Given the description of an element on the screen output the (x, y) to click on. 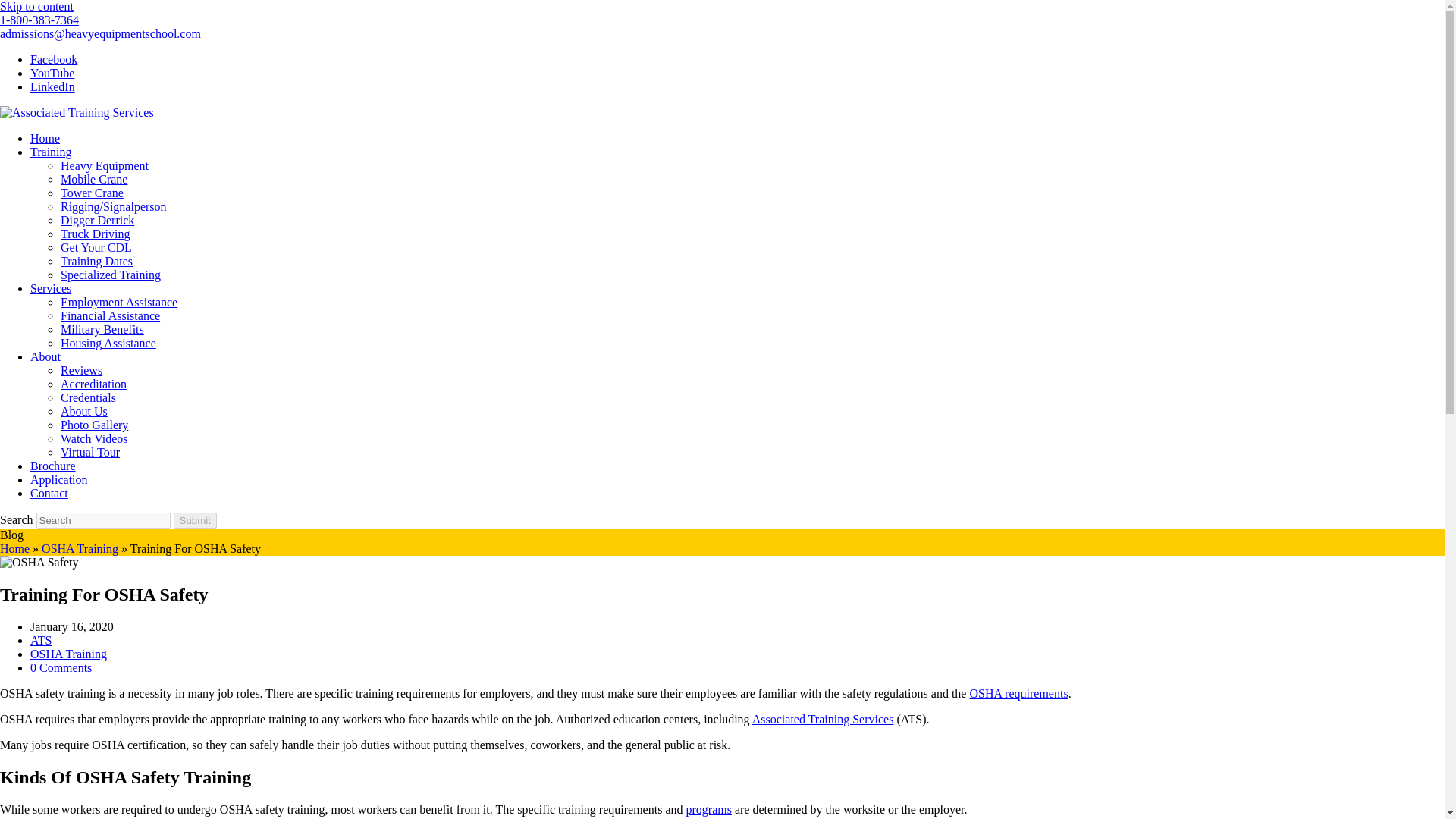
YouTube (52, 72)
About (45, 356)
Get Your CDL (96, 246)
1-800-383-7364 (39, 19)
Specialized Training (110, 274)
Home (44, 137)
Brochure (52, 465)
Tower Crane (92, 192)
OSHA Training (68, 653)
Application (58, 479)
ATS (40, 640)
Employment Assistance (119, 301)
Housing Assistance (108, 342)
Posts by ATS (40, 640)
Watch Videos (94, 438)
